Given the description of an element on the screen output the (x, y) to click on. 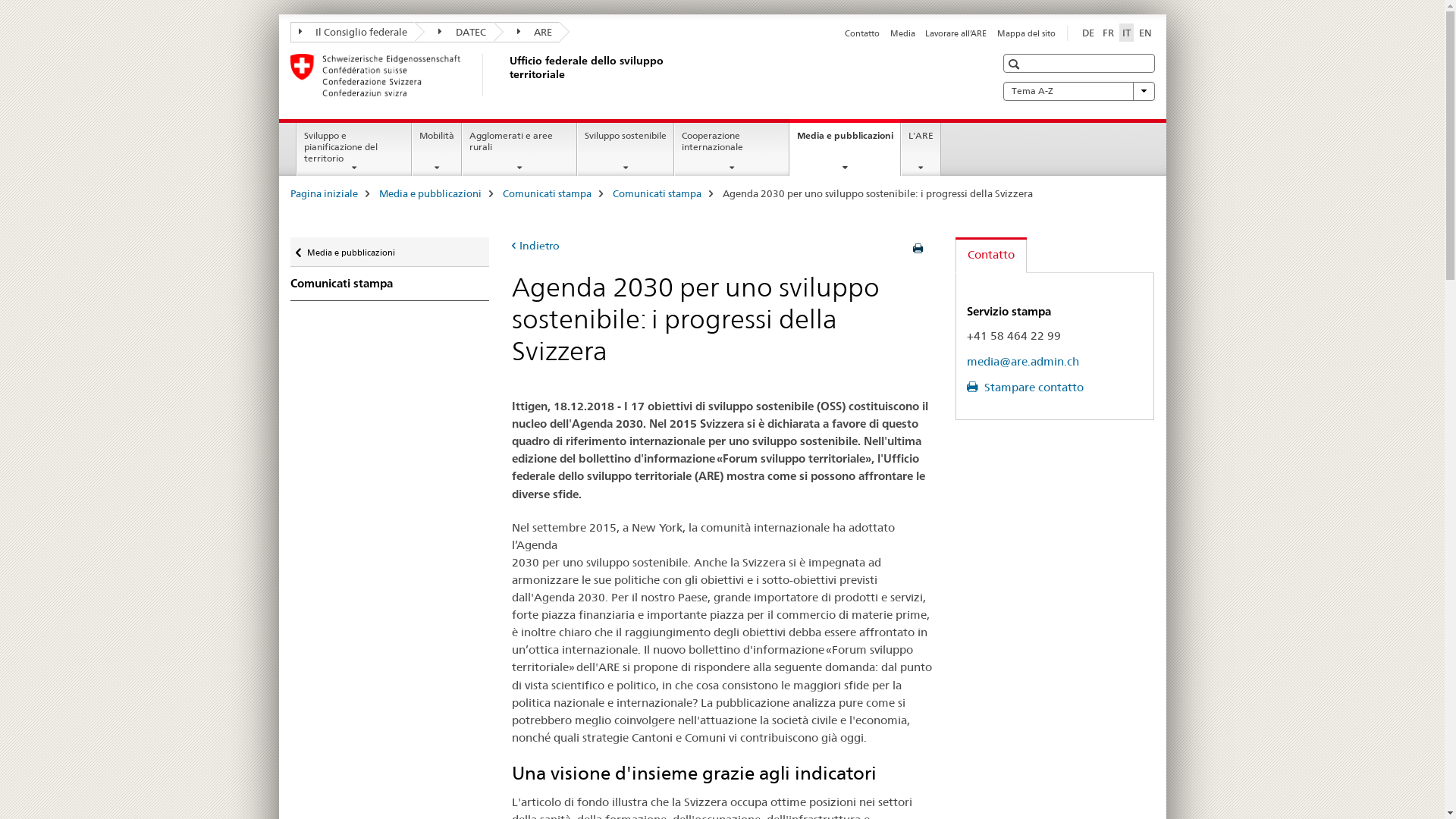
Comunicati stampa Element type: text (656, 193)
Sviluppo sostenibile Element type: text (625, 148)
Il Consiglio federale Element type: text (351, 31)
Ufficio federale dello sviluppo territoriale Element type: text (505, 74)
Indietro Element type: text (535, 245)
Cooperazione internazionale Element type: text (731, 148)
Stampare contatto Element type: text (1024, 386)
Sviluppo e pianificazione del territorio Element type: text (354, 148)
Media e pubblicazioni Element type: text (430, 193)
DATEC Element type: text (453, 31)
media@are.admin.ch Element type: text (1022, 361)
EN Element type: text (1144, 32)
Media Element type: text (902, 33)
Media e pubblicazioni
current page Element type: text (845, 147)
Mappa del sito Element type: text (1025, 33)
ARE Element type: text (525, 31)
Agglomerati e aree rurali Element type: text (519, 148)
IT Element type: text (1126, 32)
Comunicati stampa Element type: text (546, 193)
DE Element type: text (1087, 32)
Comunicati stampa Element type: text (389, 283)
Contatto Element type: text (990, 255)
Contatto Element type: text (861, 33)
Tema A-Z Element type: text (1078, 90)
FR Element type: text (1108, 32)
L'ARE Element type: text (920, 148)
Pagina iniziale Element type: text (323, 193)
